Given the description of an element on the screen output the (x, y) to click on. 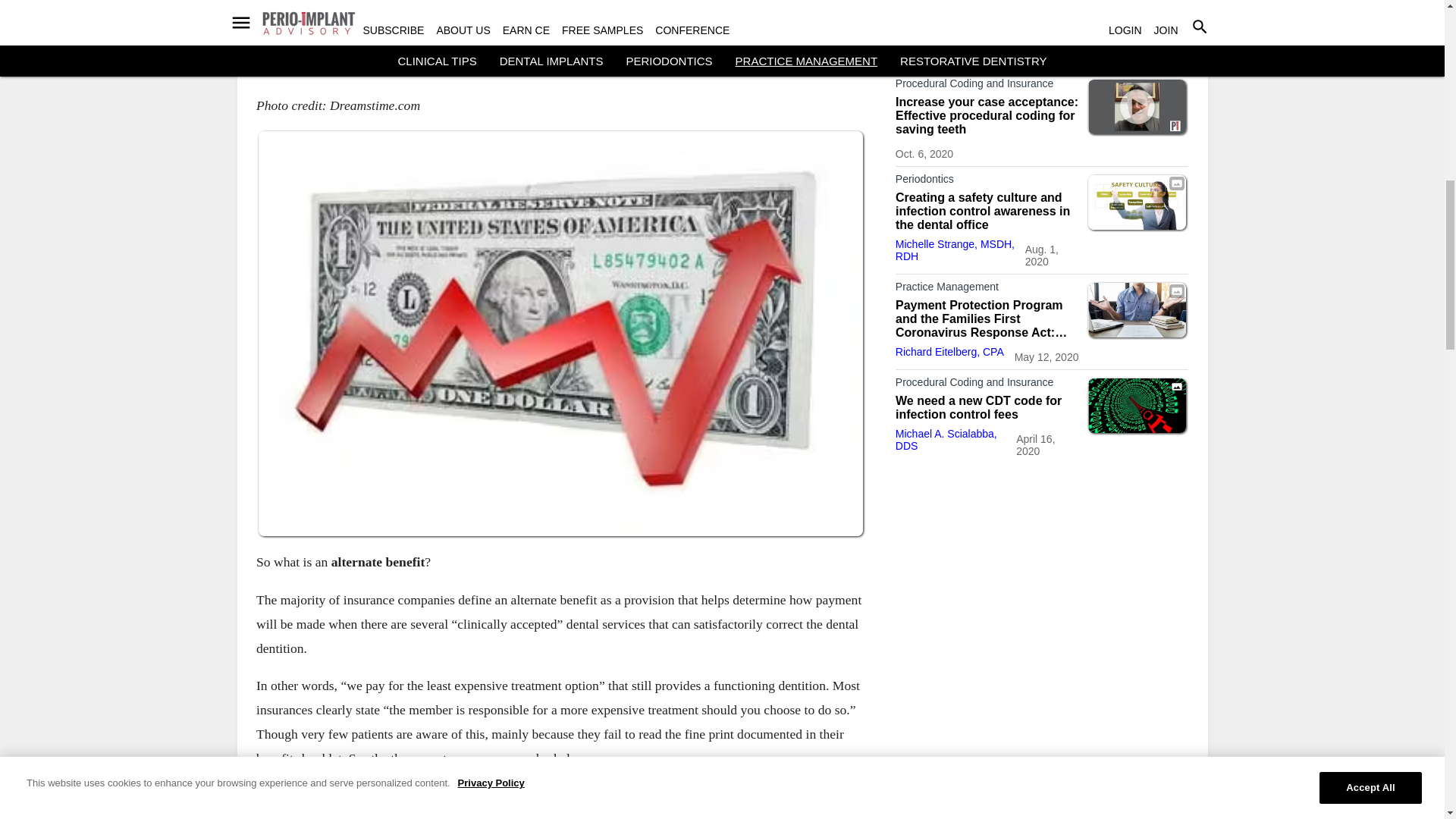
Content Dam Diq Online Articles 2013 08 Kylesummerford (559, 16)
Copyright Elnur Dreamstime Safety Culture (1136, 202)
969861168 640 5f7b8bcb2d5b2 (1136, 106)
Copyright Alexskopje Dreamstime Data (1136, 405)
Copyright Snowingg Dreamstime Hands Up (1136, 309)
Immrchris Dreamstime Deadline (1136, 26)
